Given the description of an element on the screen output the (x, y) to click on. 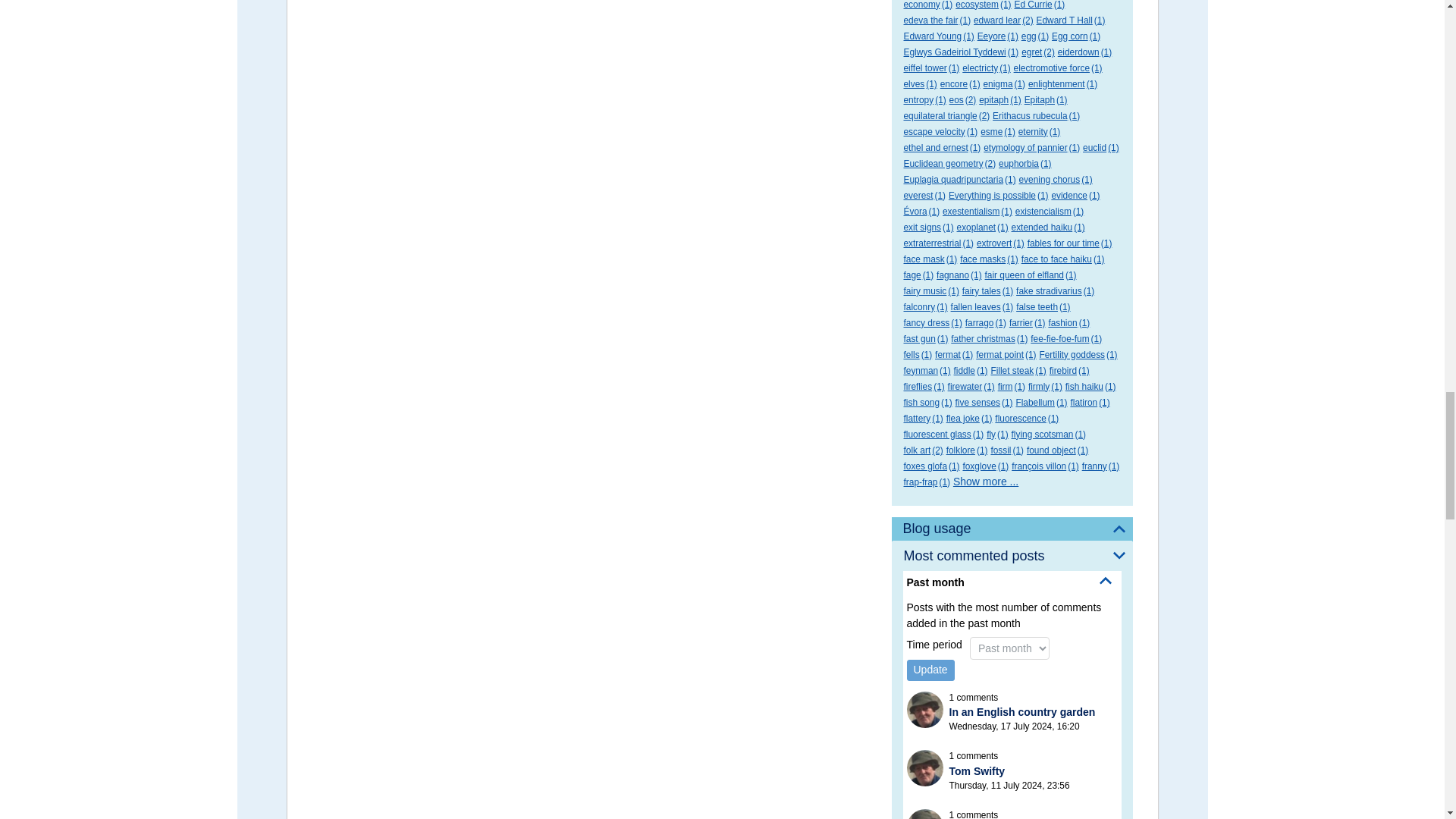
Richard Walker (925, 768)
Hide options (1105, 580)
Richard Walker (925, 709)
Blog usage (1011, 528)
Update (931, 670)
